Given the description of an element on the screen output the (x, y) to click on. 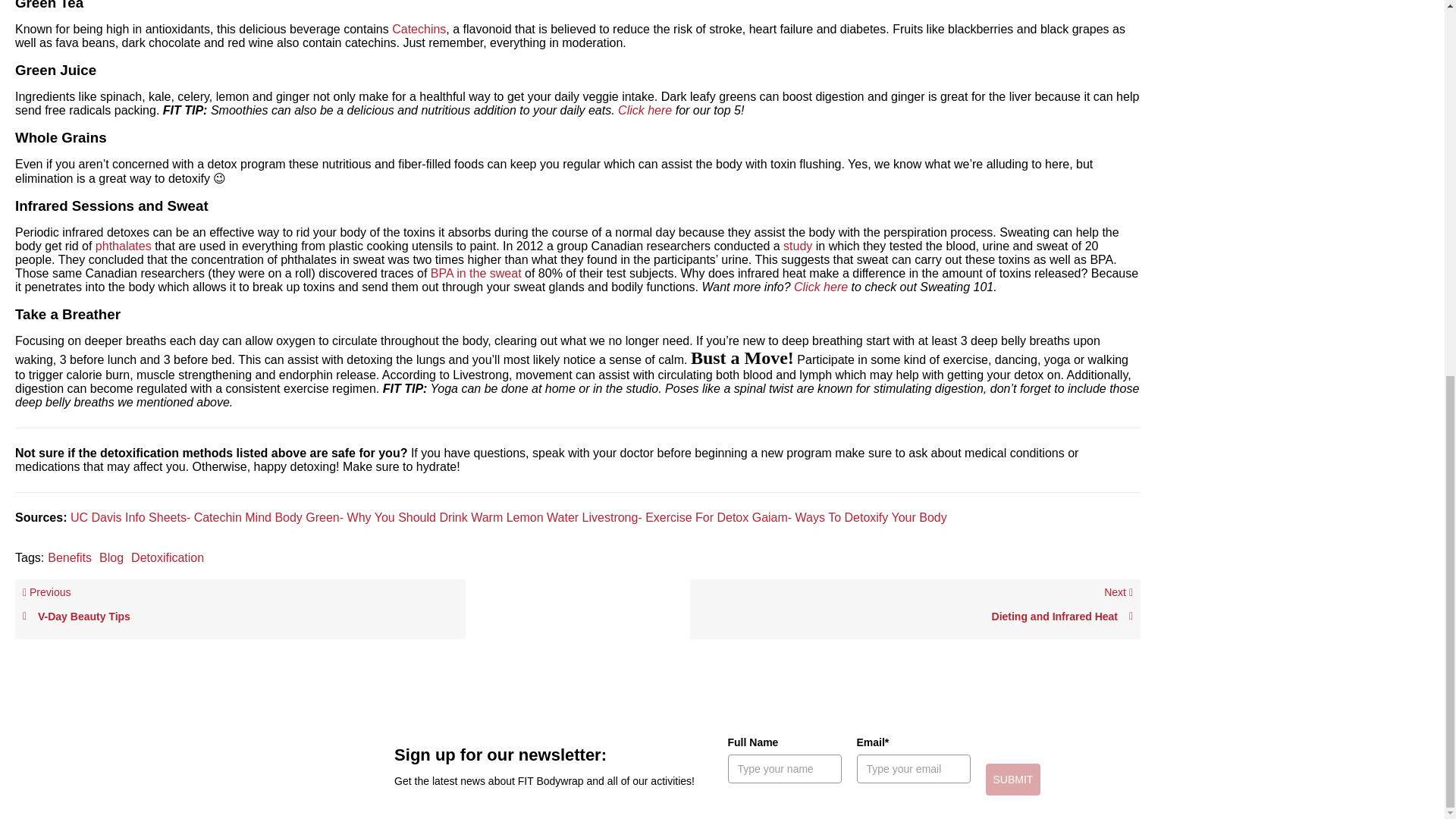
V-Day Beauty Tips (240, 616)
Dieting and Infrared Heat (914, 616)
BPA in the sweat (475, 273)
UC Davis Info Sheets- Catechin (155, 517)
Click here (820, 286)
phthalates (123, 245)
Catechins (418, 29)
study (797, 245)
Click here (644, 110)
